Given the description of an element on the screen output the (x, y) to click on. 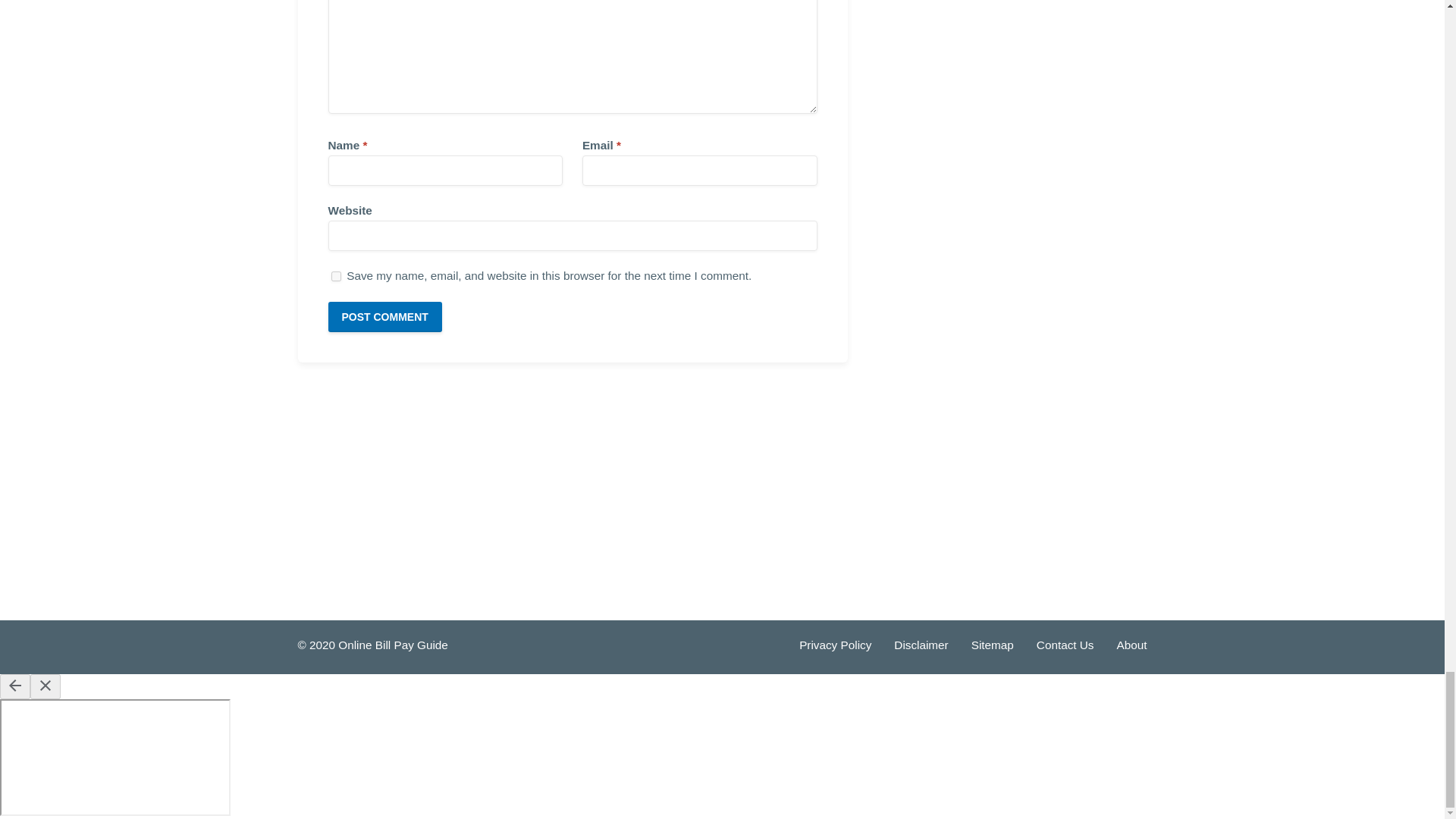
Post Comment (384, 317)
yes (335, 276)
